Given the description of an element on the screen output the (x, y) to click on. 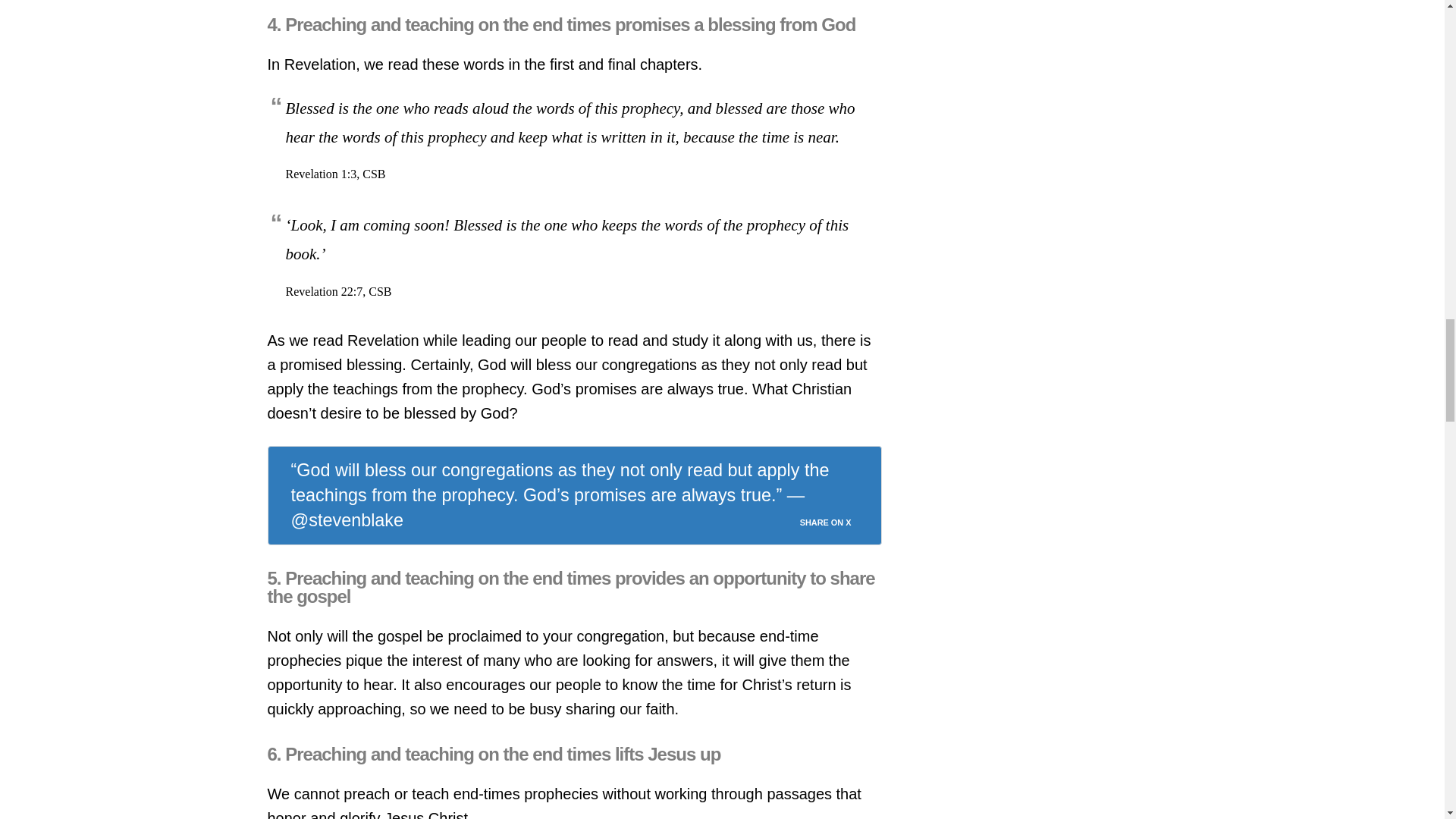
SHARE ON X (834, 518)
